Given the description of an element on the screen output the (x, y) to click on. 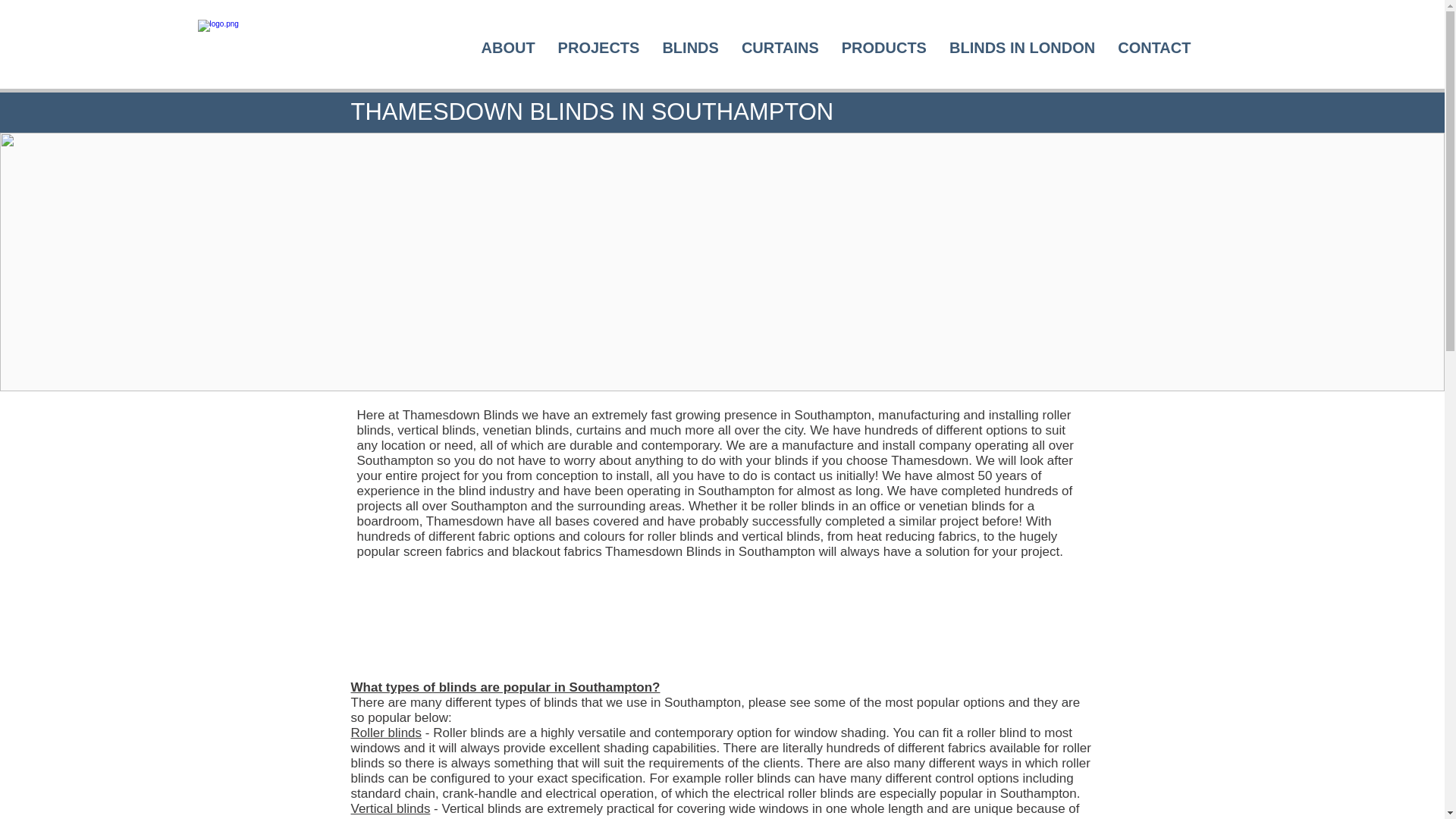
CURTAINS (779, 49)
PROJECTS (598, 49)
CONTACT (1154, 49)
ABOUT (508, 49)
PRODUCTS (883, 49)
BLINDS (689, 49)
BLINDS IN LONDON (1021, 49)
